Given the description of an element on the screen output the (x, y) to click on. 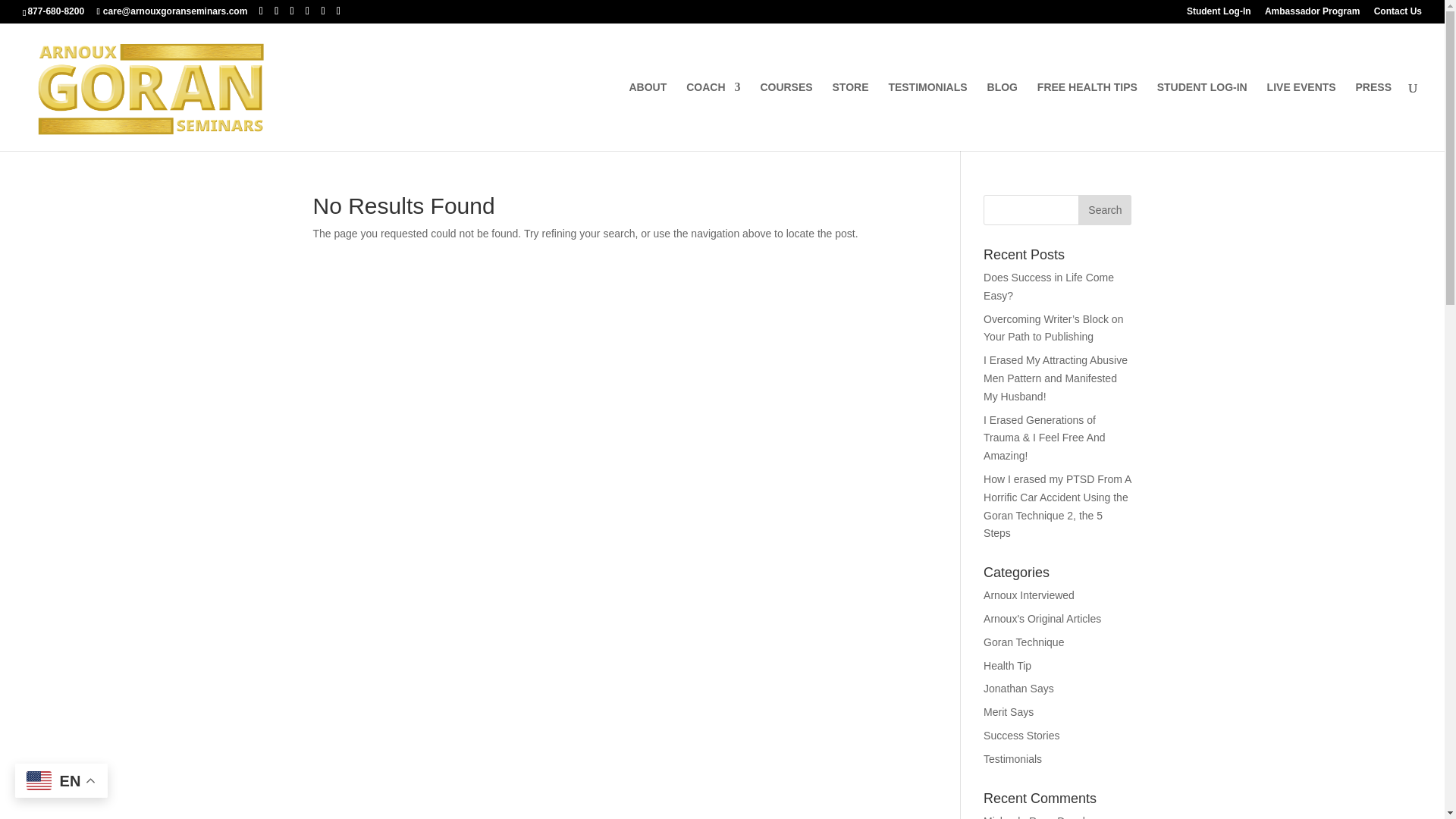
Ambassador Program (1312, 14)
TESTIMONIALS (927, 115)
LIVE EVENTS (1301, 115)
FREE HEALTH TIPS (1086, 115)
Search (1104, 209)
Student Log-In (1218, 14)
STUDENT LOG-IN (1202, 115)
Contact Us (1398, 14)
